Given the description of an element on the screen output the (x, y) to click on. 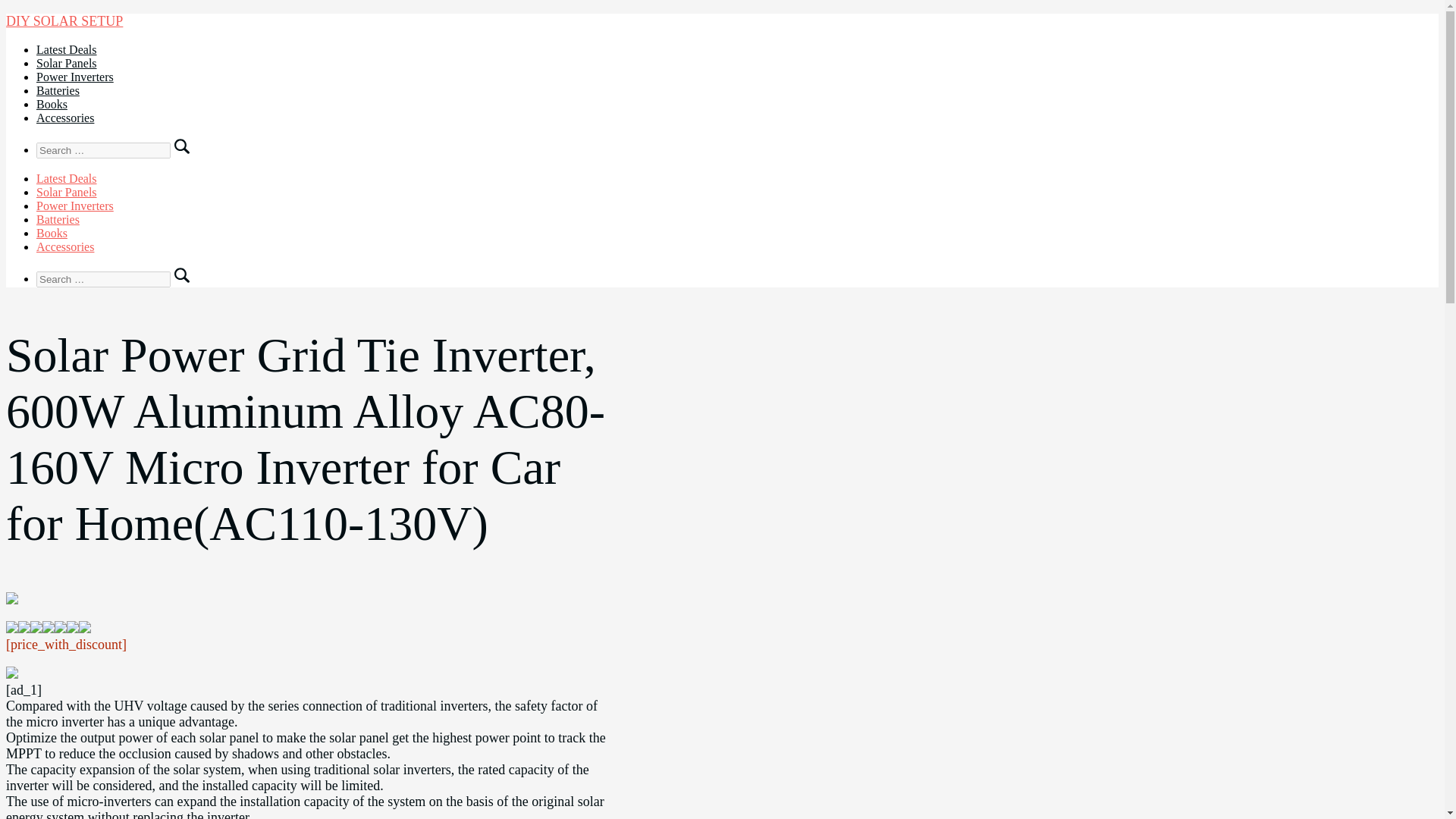
DIY SOLAR SETUP (63, 20)
Batteries (58, 90)
Latest Deals (66, 49)
Power Inverters (74, 205)
Books (51, 232)
Accessories (65, 117)
Latest Deals (66, 178)
Search for: (103, 279)
Solar Panels (66, 62)
Accessories (65, 246)
Solar Panels (66, 192)
Search for: (103, 150)
Books (51, 103)
Power Inverters (74, 76)
Batteries (58, 219)
